Given the description of an element on the screen output the (x, y) to click on. 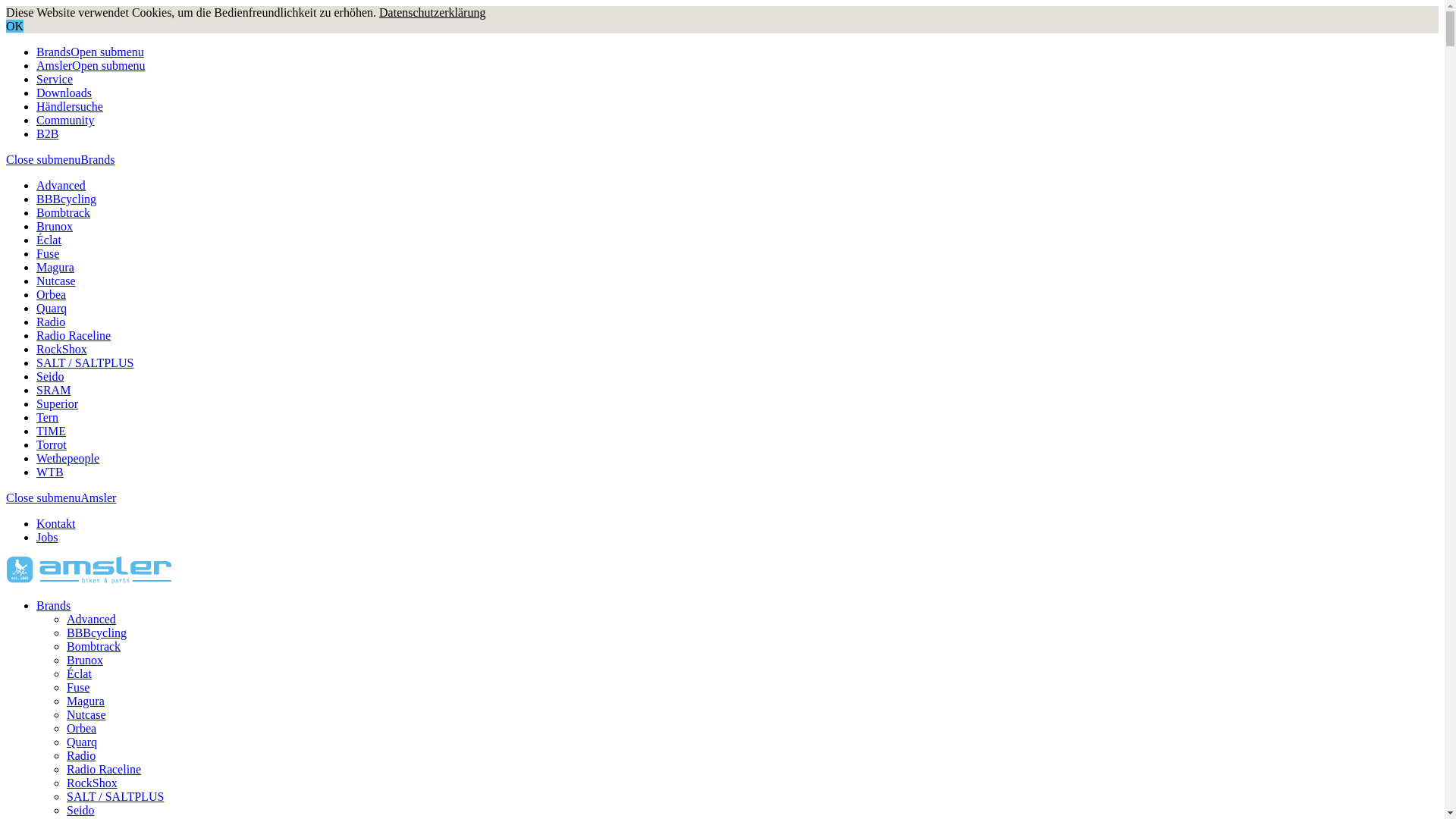
Bombtrack Element type: text (63, 212)
Seido Element type: text (49, 376)
OK Element type: text (14, 25)
Close submenu Element type: text (43, 497)
RockShox Element type: text (61, 348)
BBBcycling Element type: text (96, 632)
Brands Element type: text (97, 159)
RockShox Element type: text (91, 782)
Quarq Element type: text (81, 741)
Fuse Element type: text (77, 686)
Orbea Element type: text (81, 727)
Nutcase Element type: text (55, 280)
Brunox Element type: text (54, 225)
Open submenu Element type: text (106, 51)
Community Element type: text (65, 119)
Fuse Element type: text (47, 253)
Brands Element type: text (53, 51)
Brunox Element type: text (84, 659)
BBBcycling Element type: text (66, 198)
Quarq Element type: text (51, 307)
Torrot Element type: text (51, 444)
Orbea Element type: text (50, 294)
Tern Element type: text (47, 417)
Seido Element type: text (80, 809)
Close submenu Element type: text (43, 159)
Radio Element type: text (50, 321)
Jobs Element type: text (46, 536)
Nutcase Element type: text (86, 714)
Bombtrack Element type: text (93, 646)
Service Element type: text (54, 78)
Radio Raceline Element type: text (73, 335)
Magura Element type: text (85, 700)
WTB Element type: text (49, 471)
Magura Element type: text (55, 266)
SRAM Element type: text (53, 389)
Amsler Element type: text (54, 65)
Radio Element type: text (80, 755)
Advanced Element type: text (91, 618)
Radio Raceline Element type: text (103, 768)
Advanced Element type: text (60, 184)
Amsler Element type: text (98, 497)
B2B Element type: text (47, 133)
Superior Element type: text (57, 403)
Open submenu Element type: text (108, 65)
TIME Element type: text (50, 430)
SALT / SALTPLUS Element type: text (84, 362)
SALT / SALTPLUS Element type: text (114, 796)
Downloads Element type: text (63, 92)
Brands Element type: text (53, 605)
Kontakt Element type: text (55, 523)
Wethepeople Element type: text (67, 457)
